Given the description of an element on the screen output the (x, y) to click on. 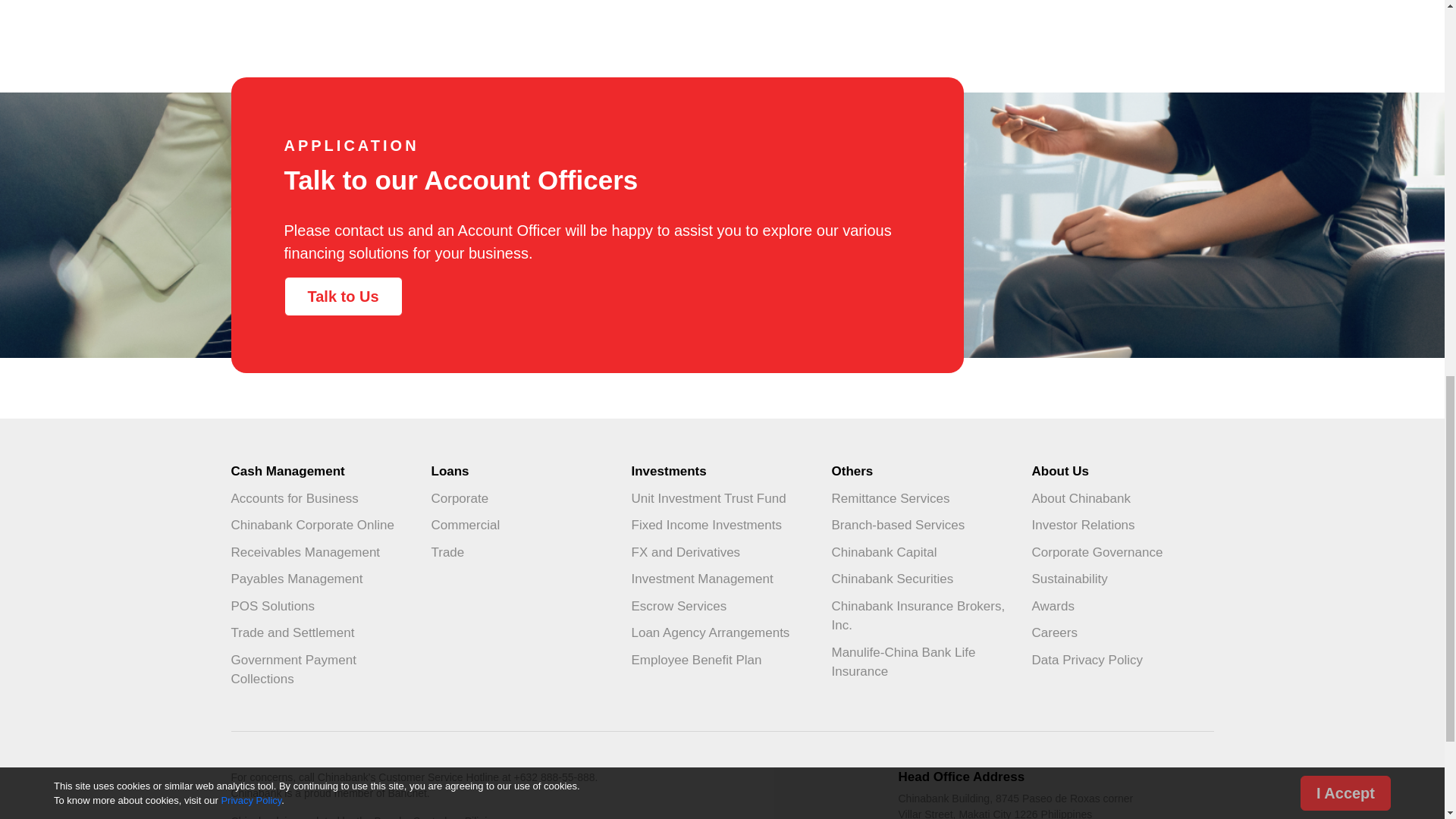
Chinabank Corporate Online (321, 524)
Corporate (521, 498)
Talk to Us (342, 295)
Trade and Settlement (321, 633)
Government Payment Collections (321, 669)
POS Solutions (321, 605)
Payables Management (321, 578)
Accounts for Business (321, 498)
Receivables Management (321, 552)
Commercial (521, 524)
Loans (521, 471)
Cash Management (321, 471)
